Given the description of an element on the screen output the (x, y) to click on. 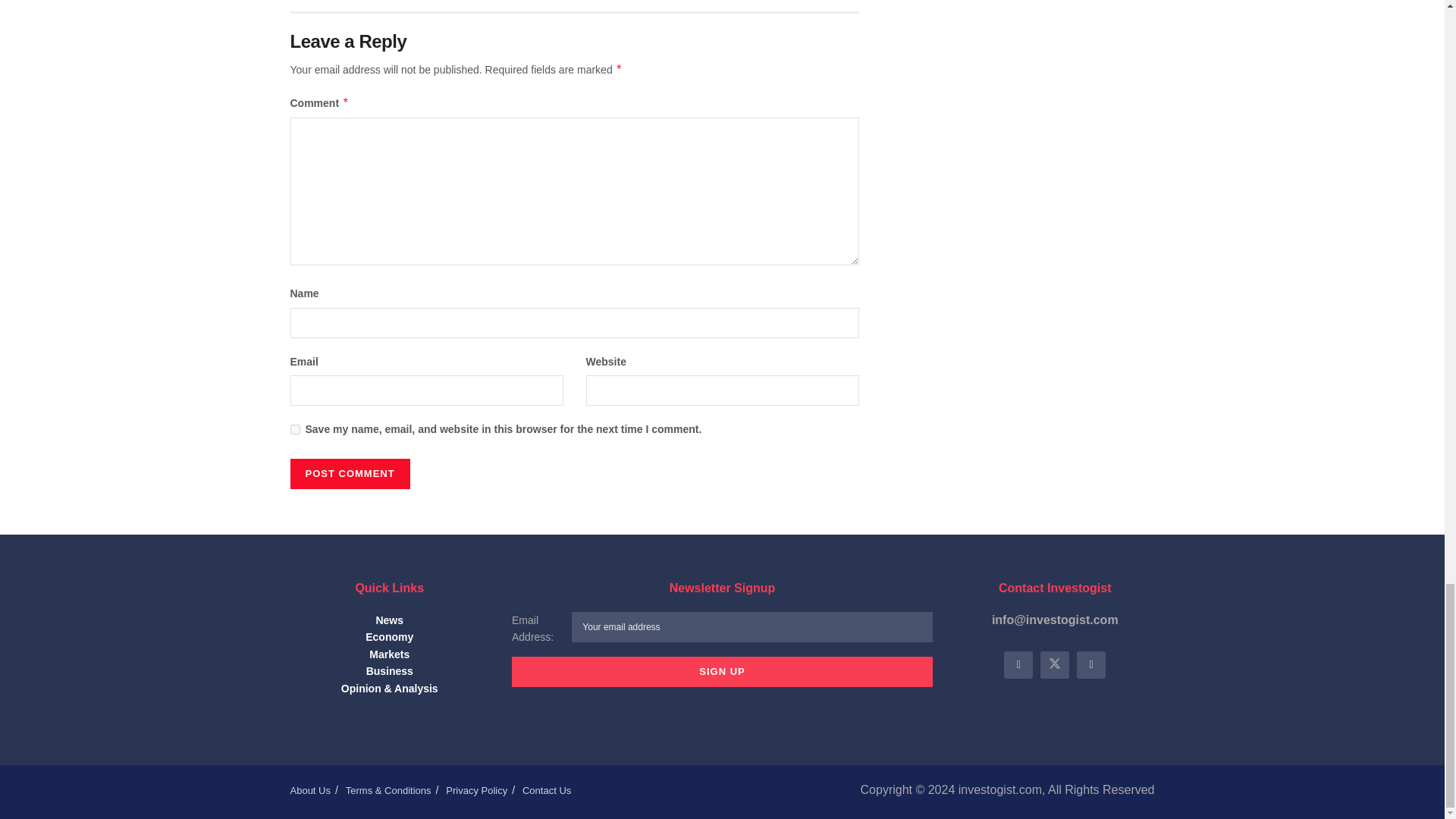
yes (294, 429)
Post Comment (349, 473)
Sign up (722, 671)
